Given the description of an element on the screen output the (x, y) to click on. 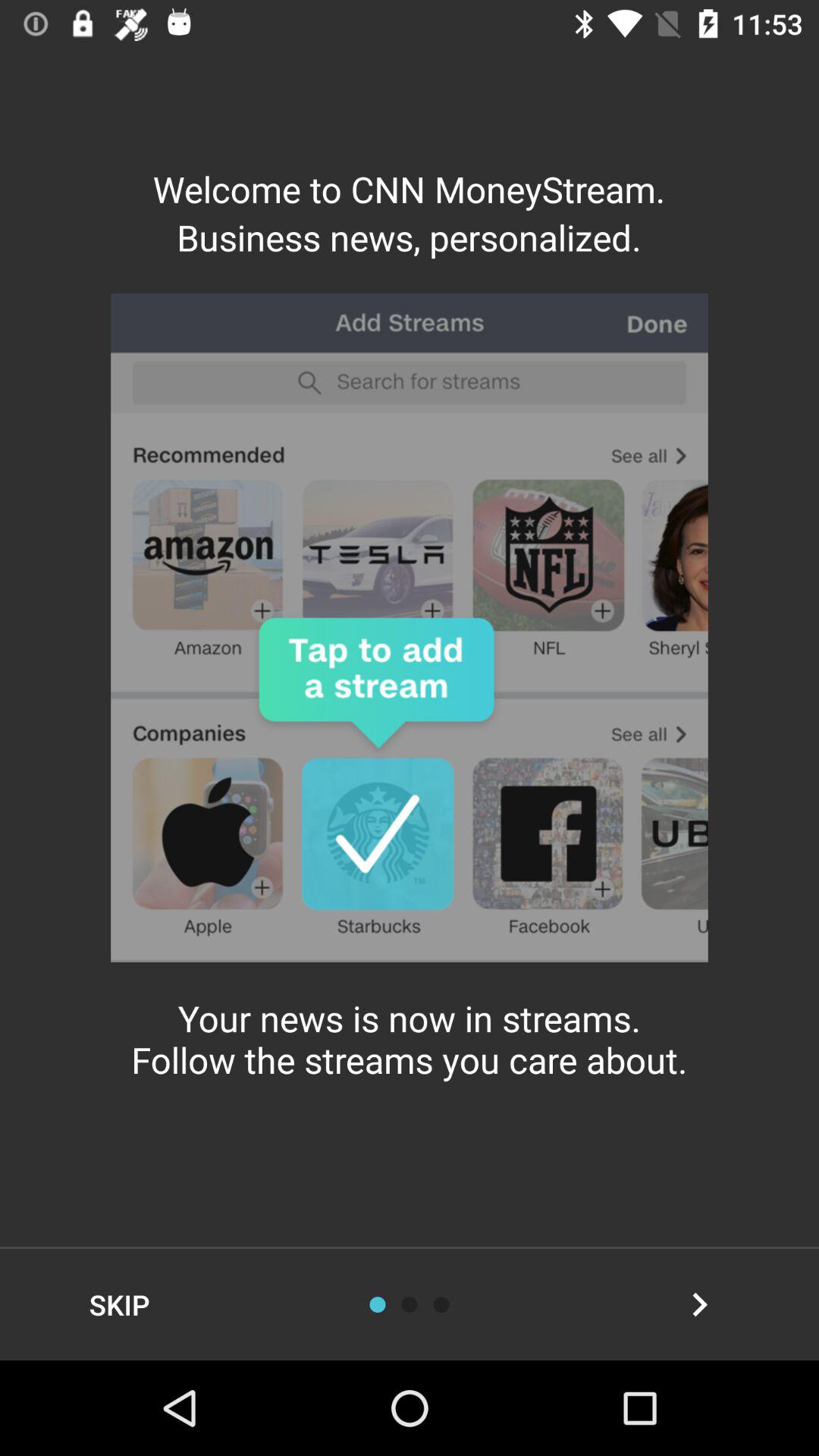
switches to paused item (441, 1304)
